Given the description of an element on the screen output the (x, y) to click on. 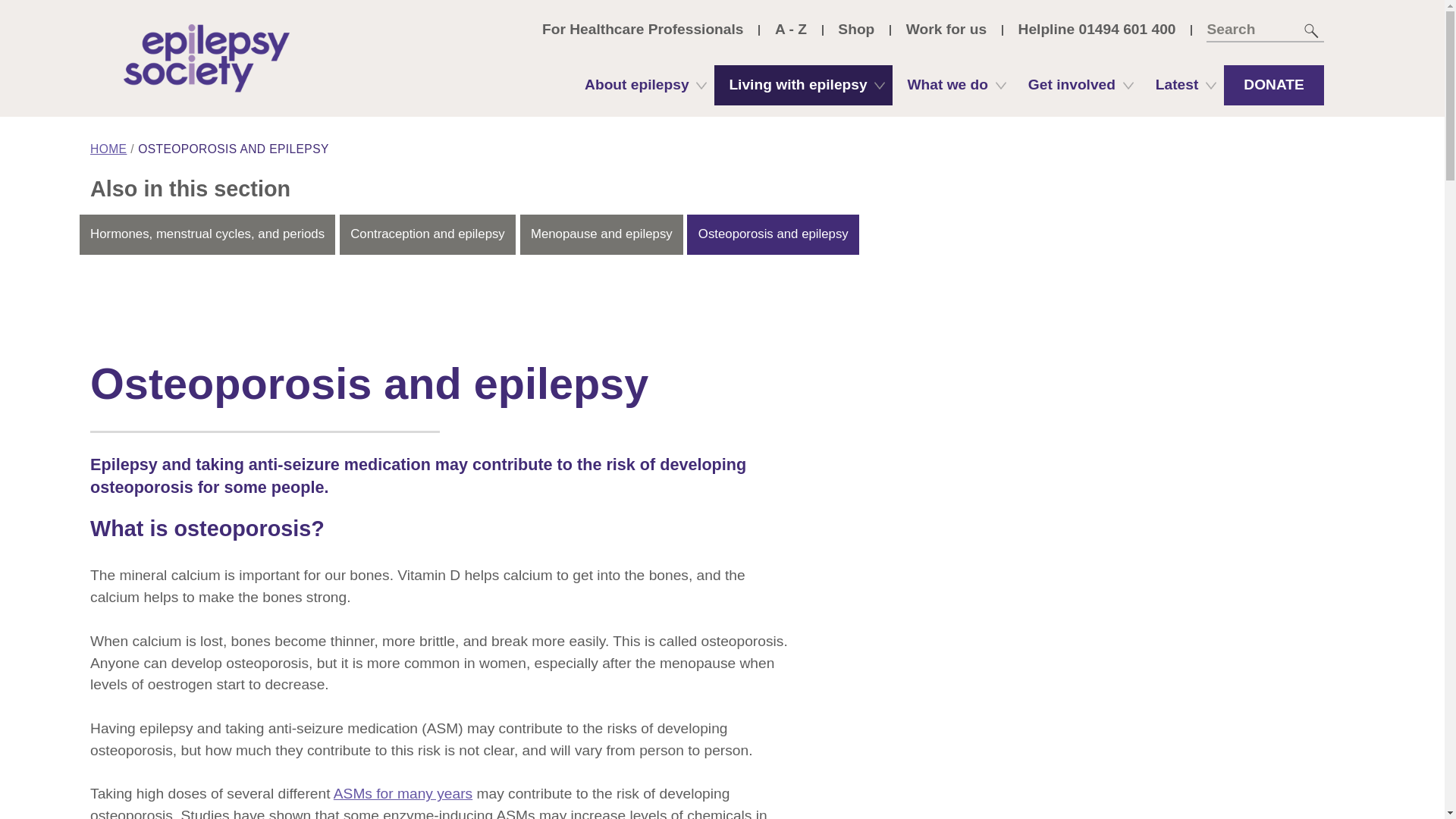
About epilepsy (642, 85)
Skip to content (721, 32)
Living with epilepsy (803, 85)
Apply (1311, 31)
About epilepsy (642, 85)
Skip to navigation (24, 21)
What we do (952, 85)
